Given the description of an element on the screen output the (x, y) to click on. 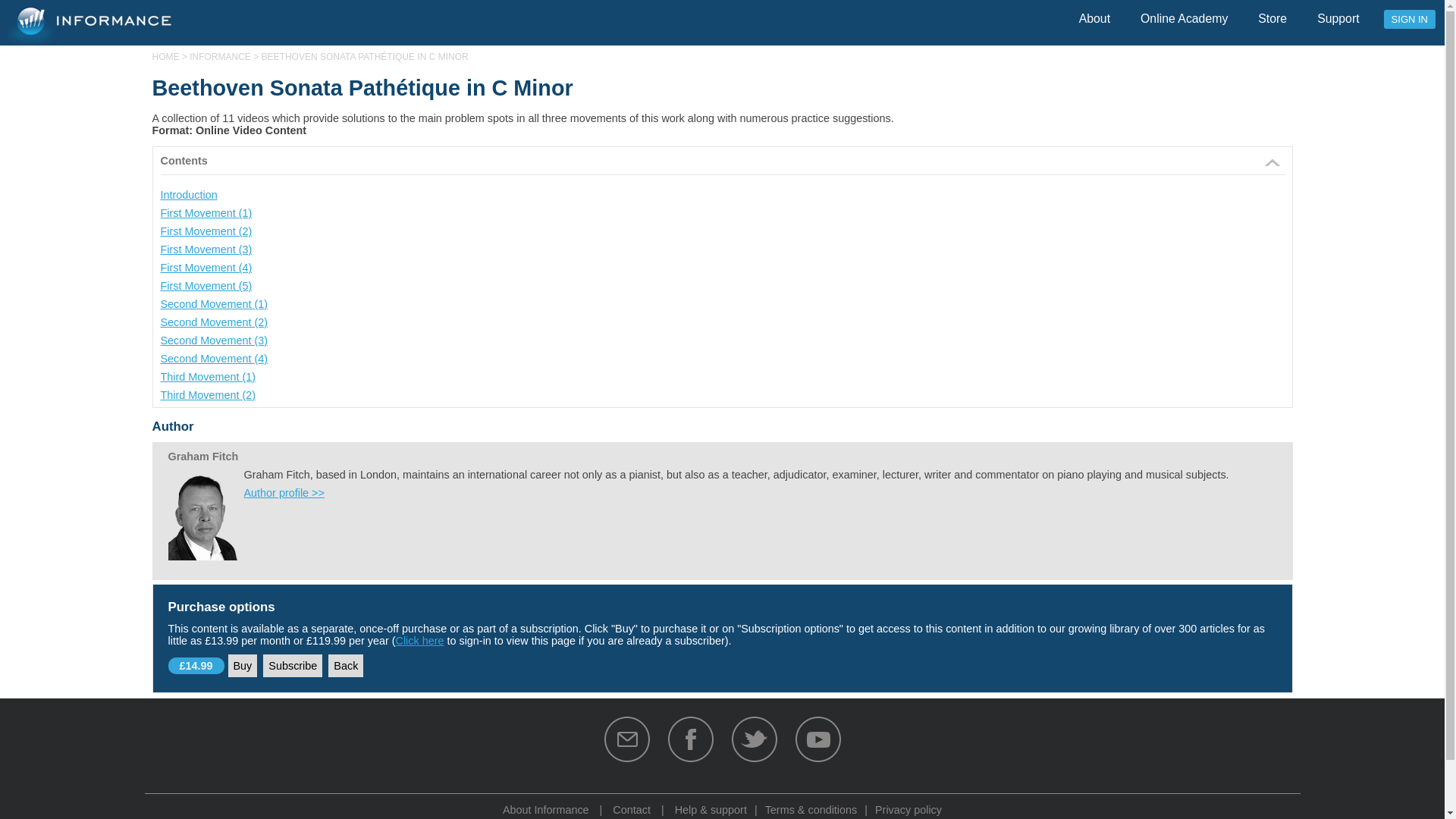
Support (1338, 24)
Store (1272, 24)
INFORMANCE (219, 56)
Buy (242, 665)
Online Academy (1183, 24)
Back (345, 665)
HOME (165, 56)
Introduction (188, 194)
Subscribe (292, 665)
About (1094, 24)
